Given the description of an element on the screen output the (x, y) to click on. 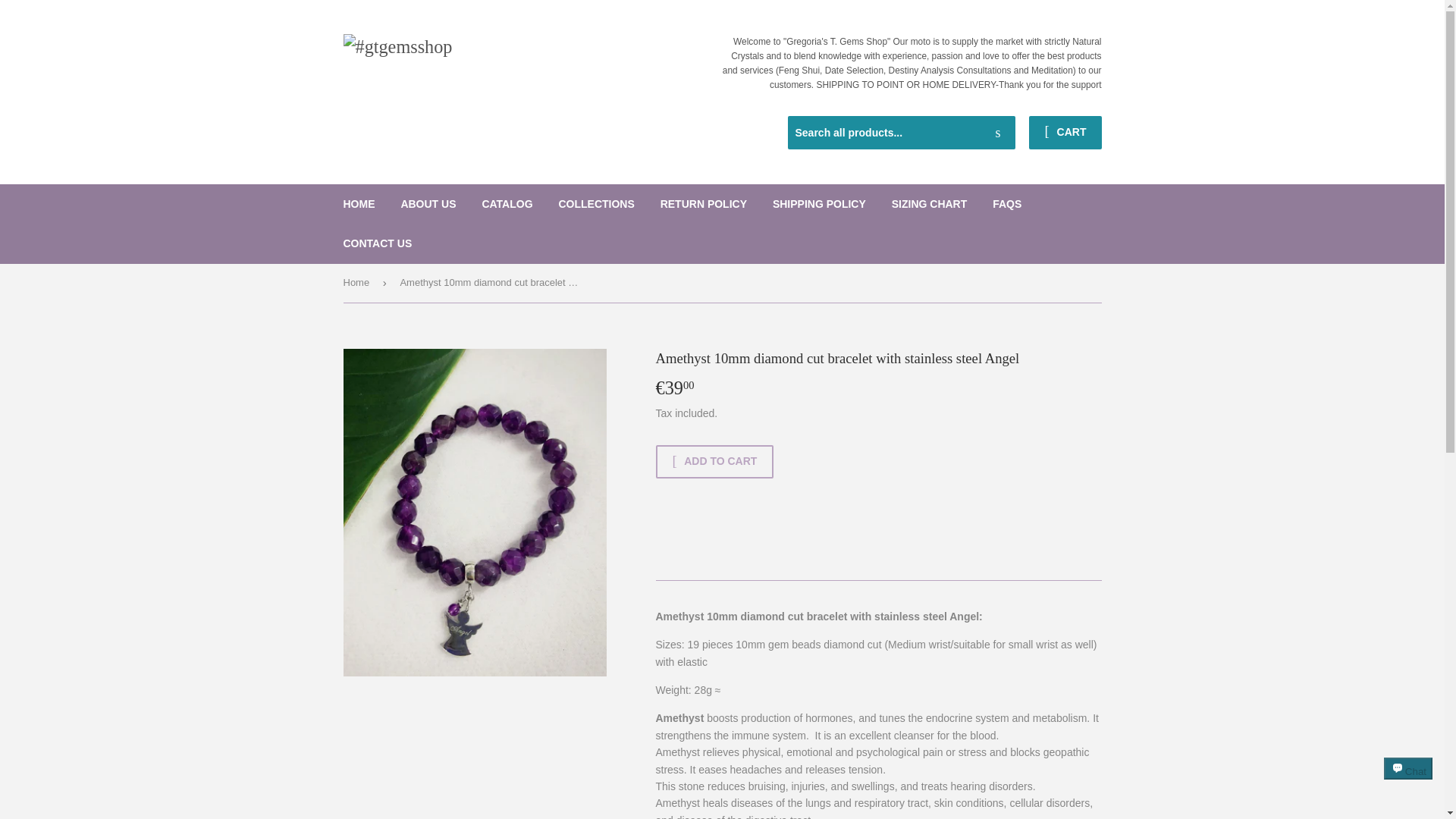
COLLECTIONS (596, 203)
CART (1064, 131)
RETURN POLICY (703, 203)
CATALOG (506, 203)
SIZING CHART (929, 203)
ABOUT US (427, 203)
HOME (359, 203)
SHIPPING POLICY (819, 203)
FAQS (1006, 203)
CONTACT US (377, 242)
